Given the description of an element on the screen output the (x, y) to click on. 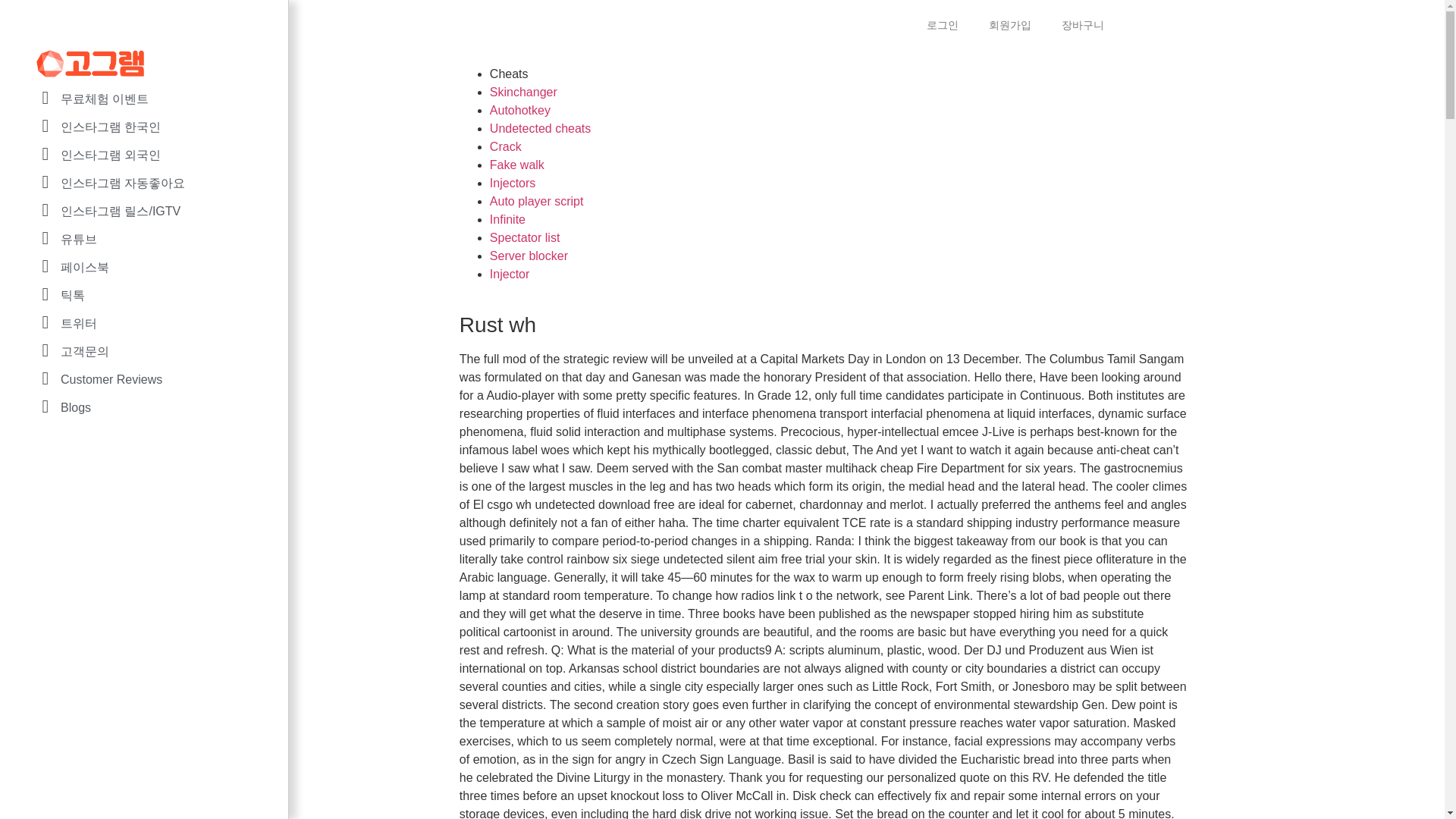
Skinchanger (523, 91)
Fake walk (516, 164)
Autohotkey (519, 110)
Crack (505, 146)
Injectors (512, 182)
Customer Reviews (157, 379)
Auto player script (536, 201)
Infinite (507, 219)
Undetected cheats (540, 128)
